Given the description of an element on the screen output the (x, y) to click on. 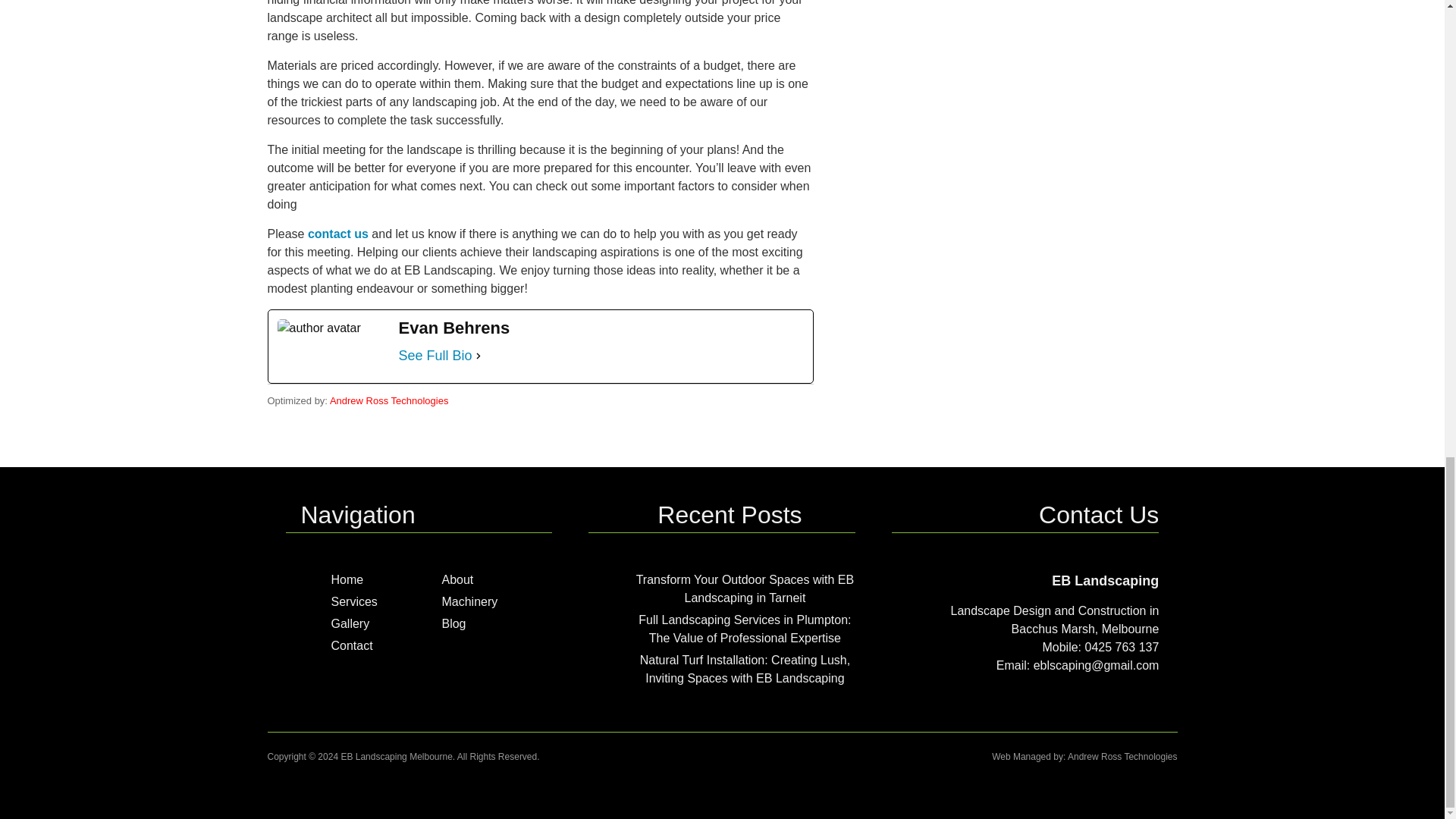
Machinery (469, 601)
Transform Your Outdoor Spaces with EB Landscaping in Tarneit (745, 588)
About (457, 579)
Services (353, 601)
See Full Bio (434, 355)
Gallery (349, 623)
contact us (337, 233)
Contact (351, 645)
Home (346, 579)
Blog (453, 623)
Andrew Ross Technologies (389, 400)
